Given the description of an element on the screen output the (x, y) to click on. 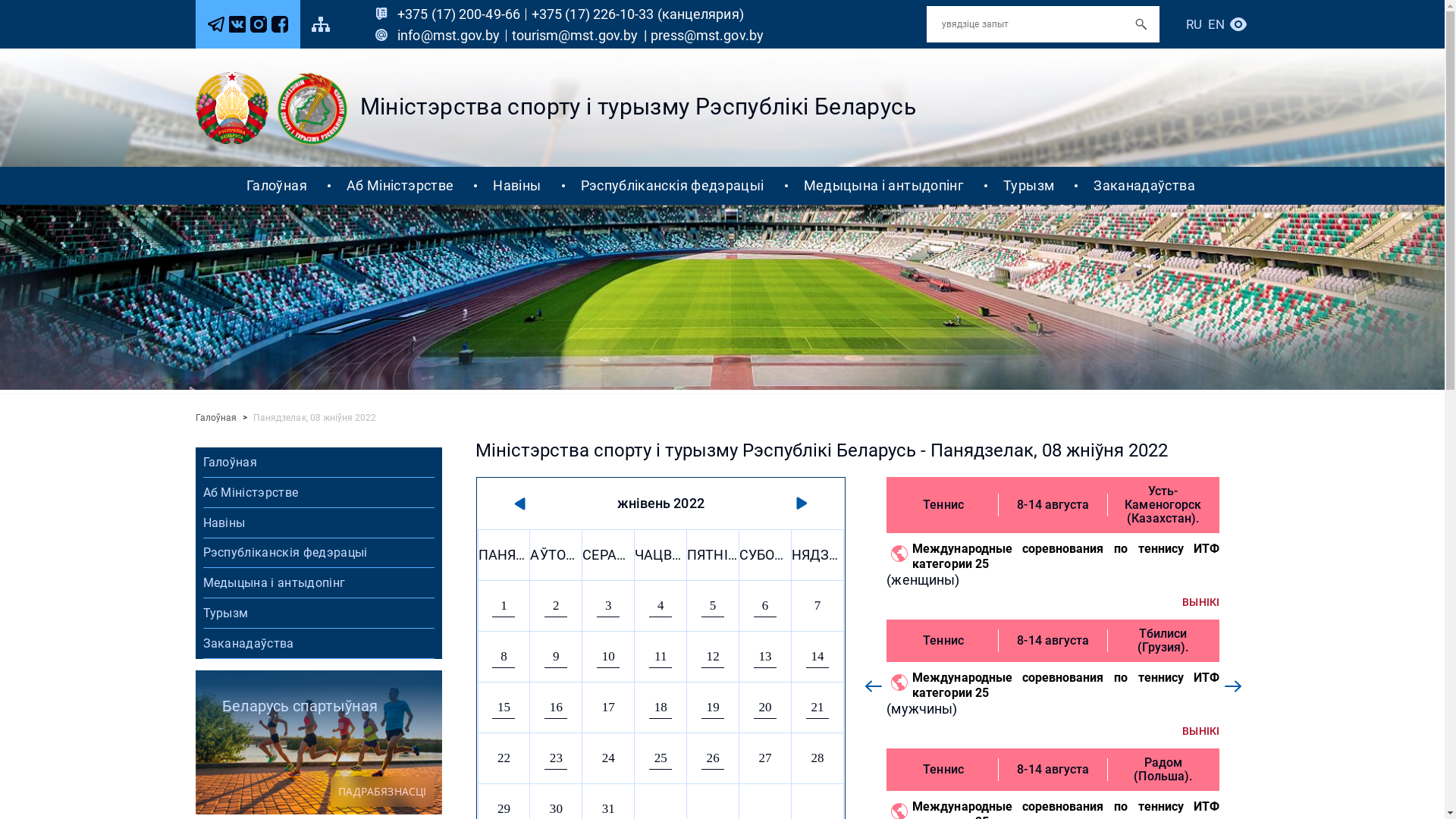
18 Element type: text (660, 706)
19 Element type: text (712, 706)
6 Element type: text (764, 604)
RU Element type: text (1193, 24)
11 Element type: text (660, 656)
10 Element type: text (607, 656)
13 Element type: text (764, 656)
16 Element type: text (555, 706)
tourism@mst.gov.by   Element type: text (577, 35)
12 Element type: text (712, 656)
2 Element type: text (555, 604)
14 Element type: text (817, 656)
| press@mst.gov.by Element type: text (703, 35)
+375 (17) 200-49-66 Element type: text (464, 13)
15 Element type: text (503, 706)
20 Element type: text (764, 706)
26 Element type: text (712, 757)
5 Element type: text (712, 604)
4 Element type: text (660, 604)
25 Element type: text (660, 757)
8 Element type: text (503, 656)
21 Element type: text (817, 706)
Next Element type: text (1232, 686)
info@mst.gov.by Element type: text (454, 35)
3 Element type: text (607, 604)
Previous Element type: text (873, 686)
EN Element type: text (1215, 24)
23 Element type: text (555, 757)
9 Element type: text (555, 656)
1 Element type: text (503, 604)
